Given the description of an element on the screen output the (x, y) to click on. 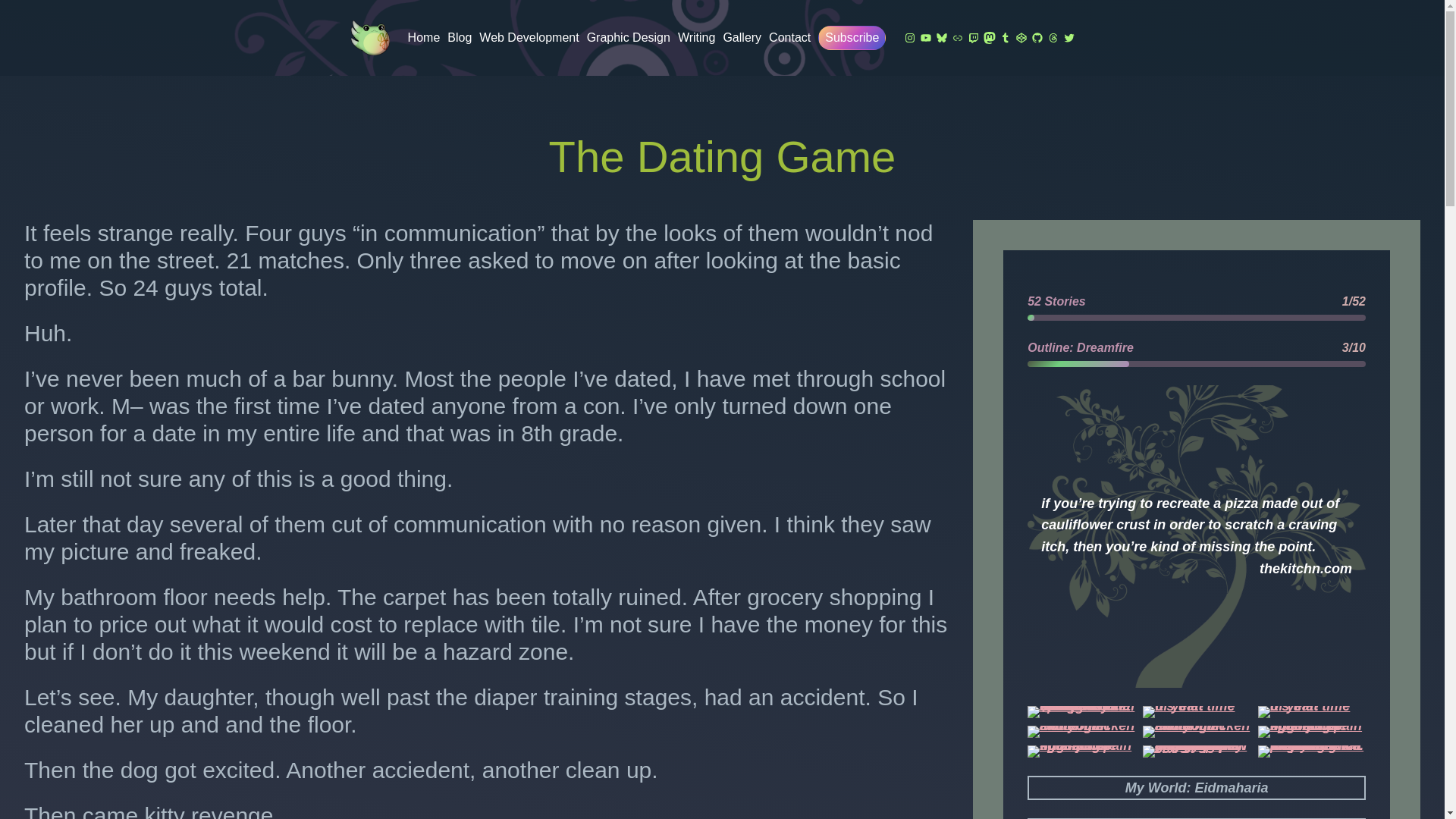
Threads (1052, 37)
GitHub (1036, 37)
CodePen (1020, 37)
Twitter (1068, 37)
Graphic Design (627, 37)
Subscribe (851, 37)
Home (424, 37)
Twitch (973, 37)
Instagram (909, 37)
